Given the description of an element on the screen output the (x, y) to click on. 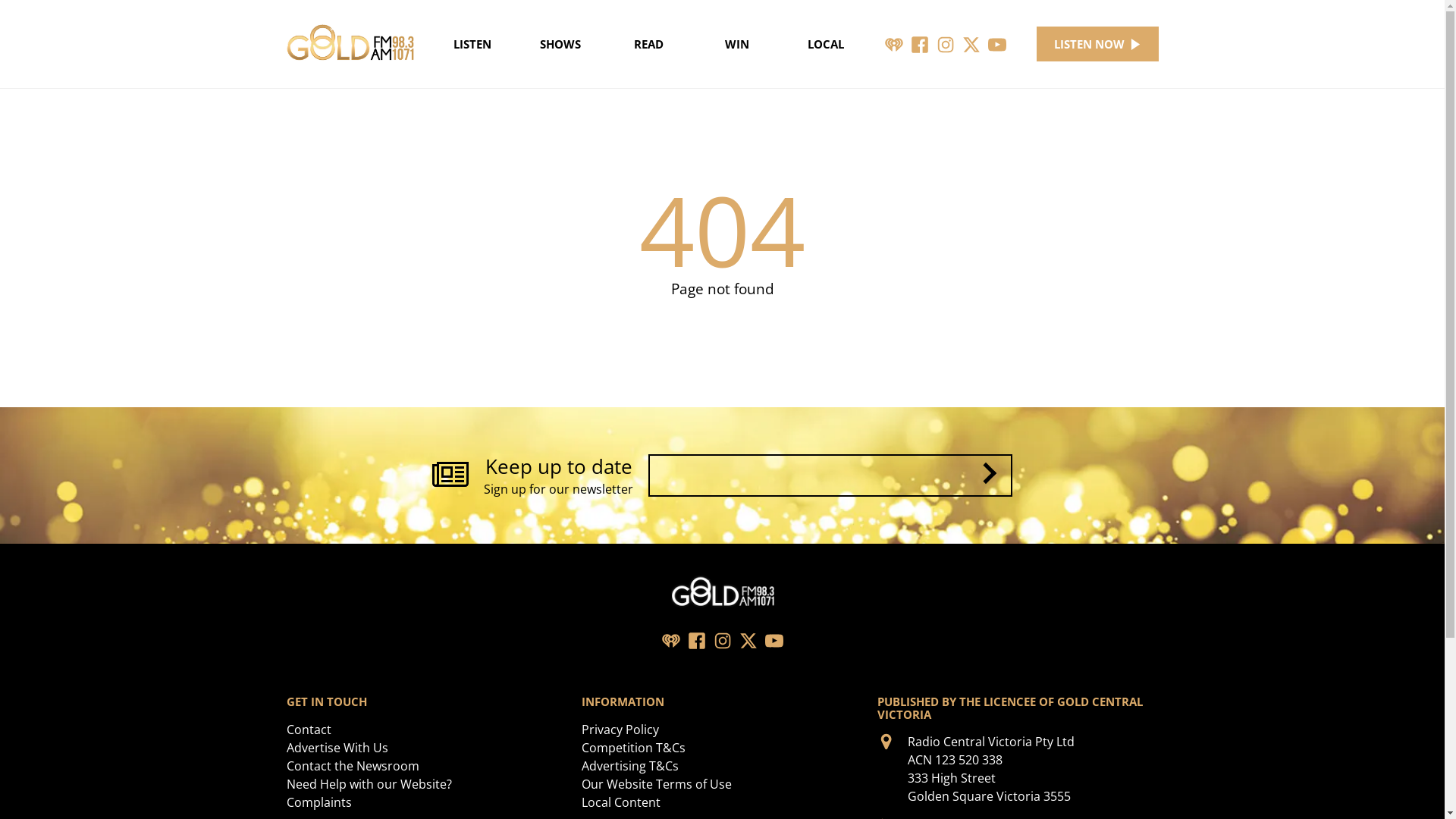
iHeart Element type: text (670, 639)
Privacy Policy Element type: text (619, 729)
Our Website Terms of Use Element type: text (656, 783)
LOCAL Element type: text (825, 43)
Competition T&Cs Element type: text (633, 747)
SHOWS Element type: text (560, 43)
Facebook Element type: text (696, 639)
Need Help with our Website? Element type: text (368, 783)
LISTEN Element type: text (471, 43)
Facebook Element type: text (919, 43)
Instagram Element type: text (945, 43)
iHeart Element type: text (893, 43)
READ Element type: text (648, 43)
Local Content Element type: text (620, 801)
Twitter/X Element type: text (971, 43)
LISTEN NOW Element type: text (1097, 44)
WIN Element type: text (737, 43)
Contact Element type: text (308, 729)
Advertising T&Cs Element type: text (629, 765)
Instagram Element type: text (721, 639)
Contact the Newsroom Element type: text (352, 765)
Complaints Element type: text (318, 801)
Twitter/X Element type: text (747, 639)
YouTube Element type: text (773, 639)
YouTube Element type: text (997, 43)
Advertise With Us Element type: text (337, 747)
